Given the description of an element on the screen output the (x, y) to click on. 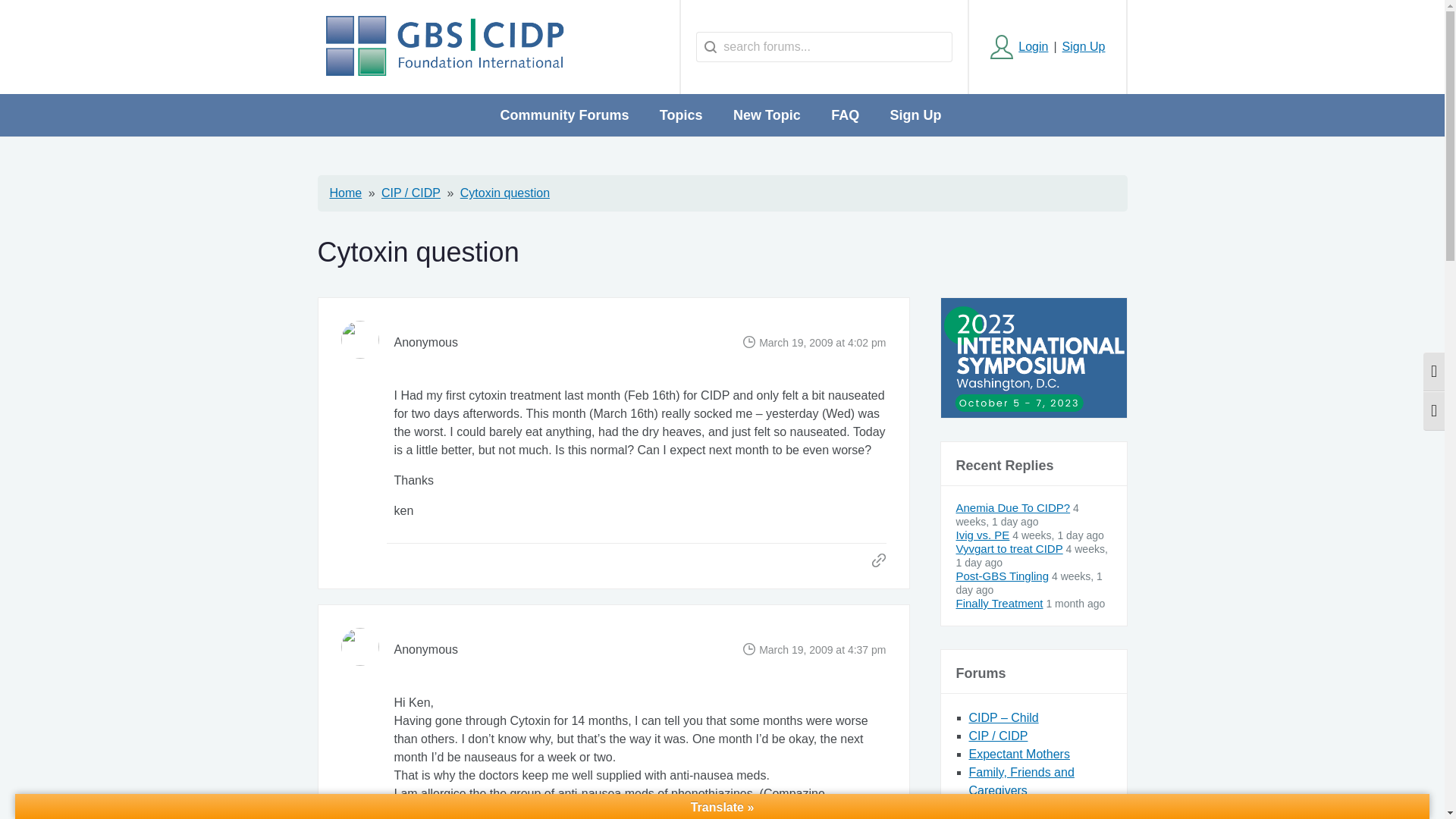
Sign Up (1083, 46)
Finally Treatment (998, 603)
Post-GBS Tingling (1001, 575)
Topics (680, 115)
Login (1019, 46)
FAQ (844, 115)
New Topic (766, 115)
Vyvgart to treat CIDP (1008, 548)
Home (345, 192)
Family, Friends and Caregivers (1021, 780)
Community Forums (563, 115)
Expectant Mothers (1019, 753)
Ivig vs. PE (982, 534)
Cytoxin question (505, 192)
Sign Up (915, 115)
